Given the description of an element on the screen output the (x, y) to click on. 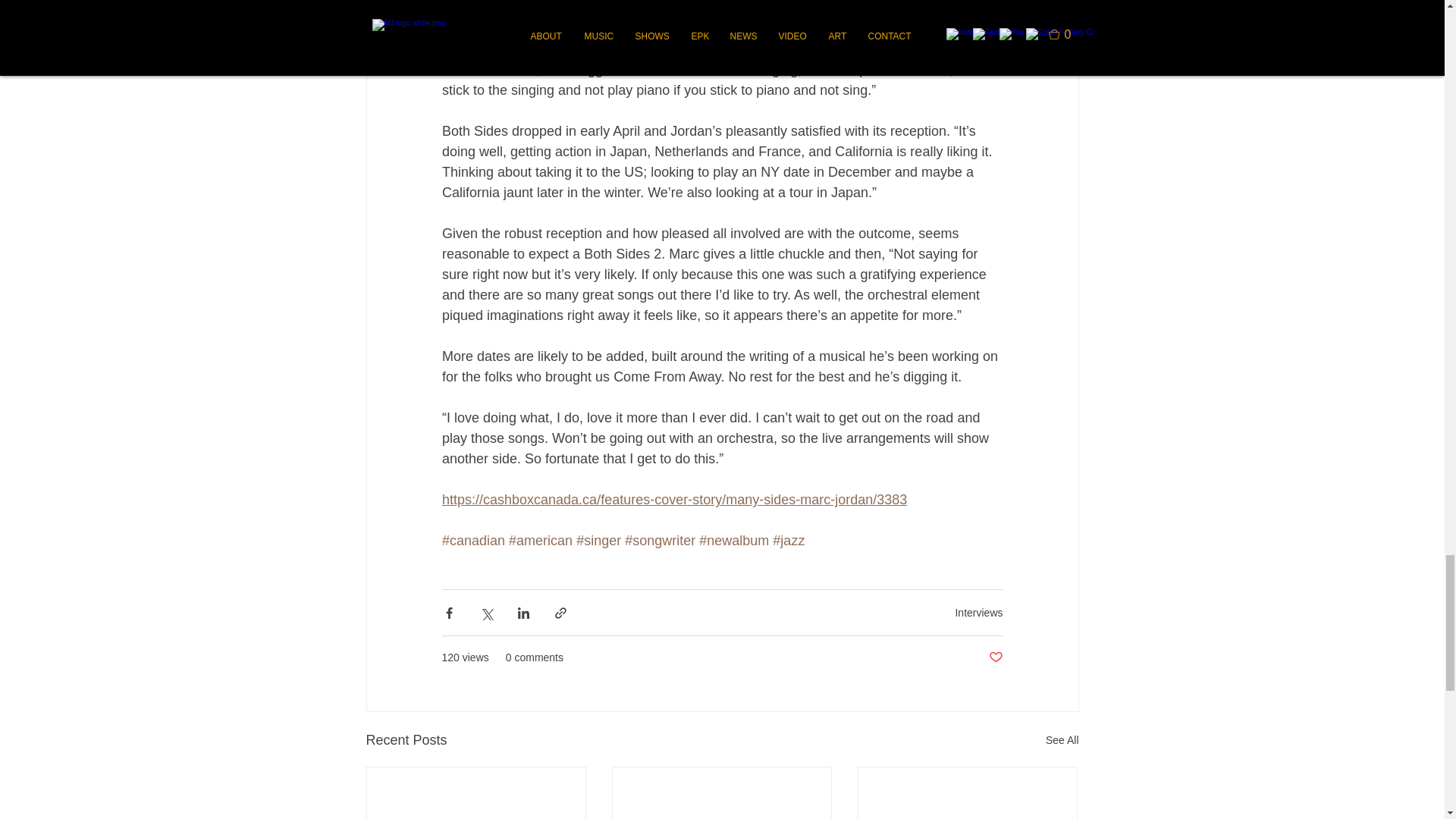
Post not marked as liked (995, 657)
See All (1061, 740)
Interviews (979, 612)
